Given the description of an element on the screen output the (x, y) to click on. 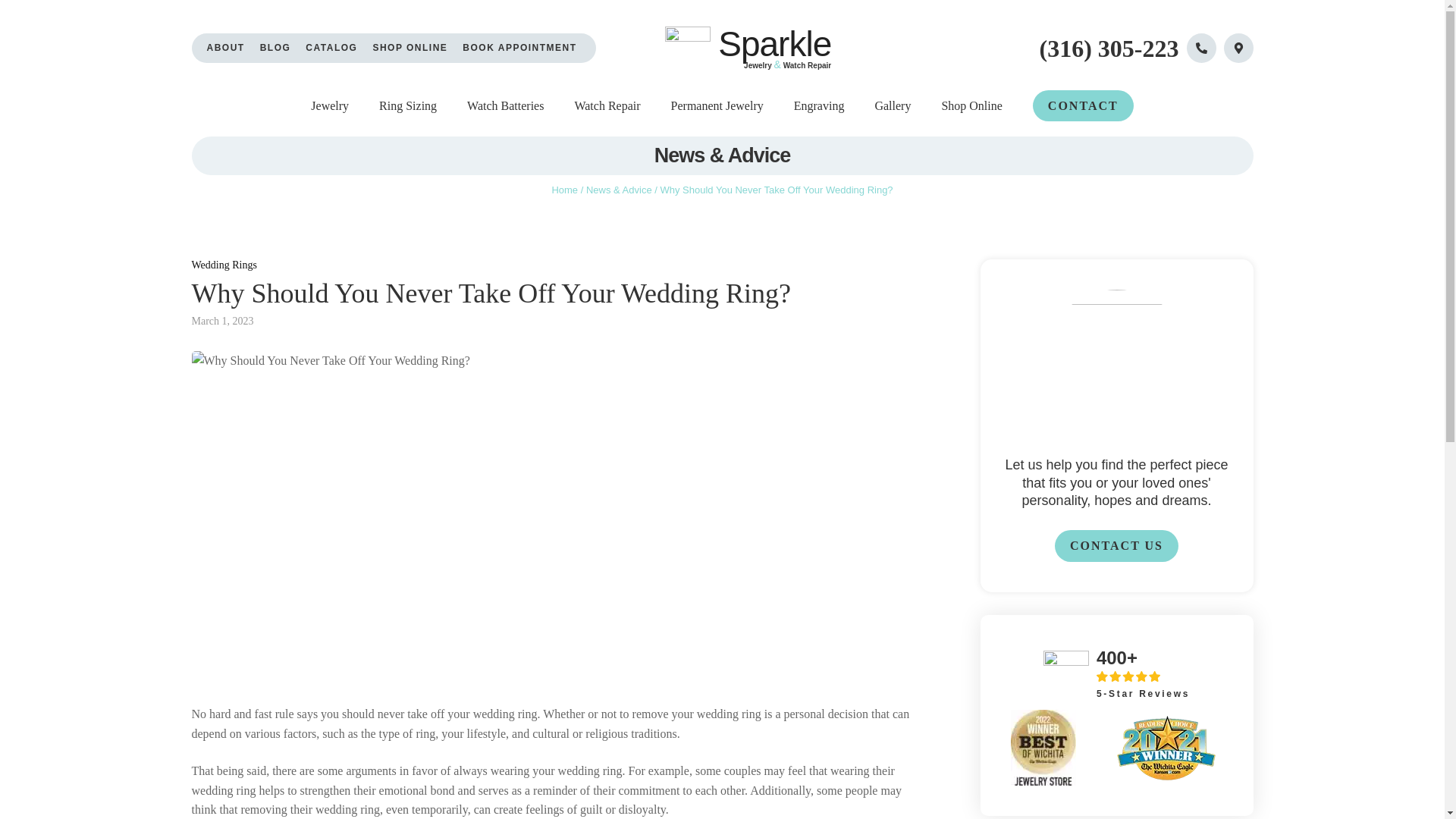
Gallery (893, 105)
BLOG (275, 47)
Jewelry (330, 105)
Ring Sizing (407, 105)
Engraving (818, 105)
Permanent Jewelry (716, 105)
Watch Repair (606, 105)
ABOUT (225, 47)
Shop Online (970, 105)
BOOK APPOINTMENT (519, 47)
